Given the description of an element on the screen output the (x, y) to click on. 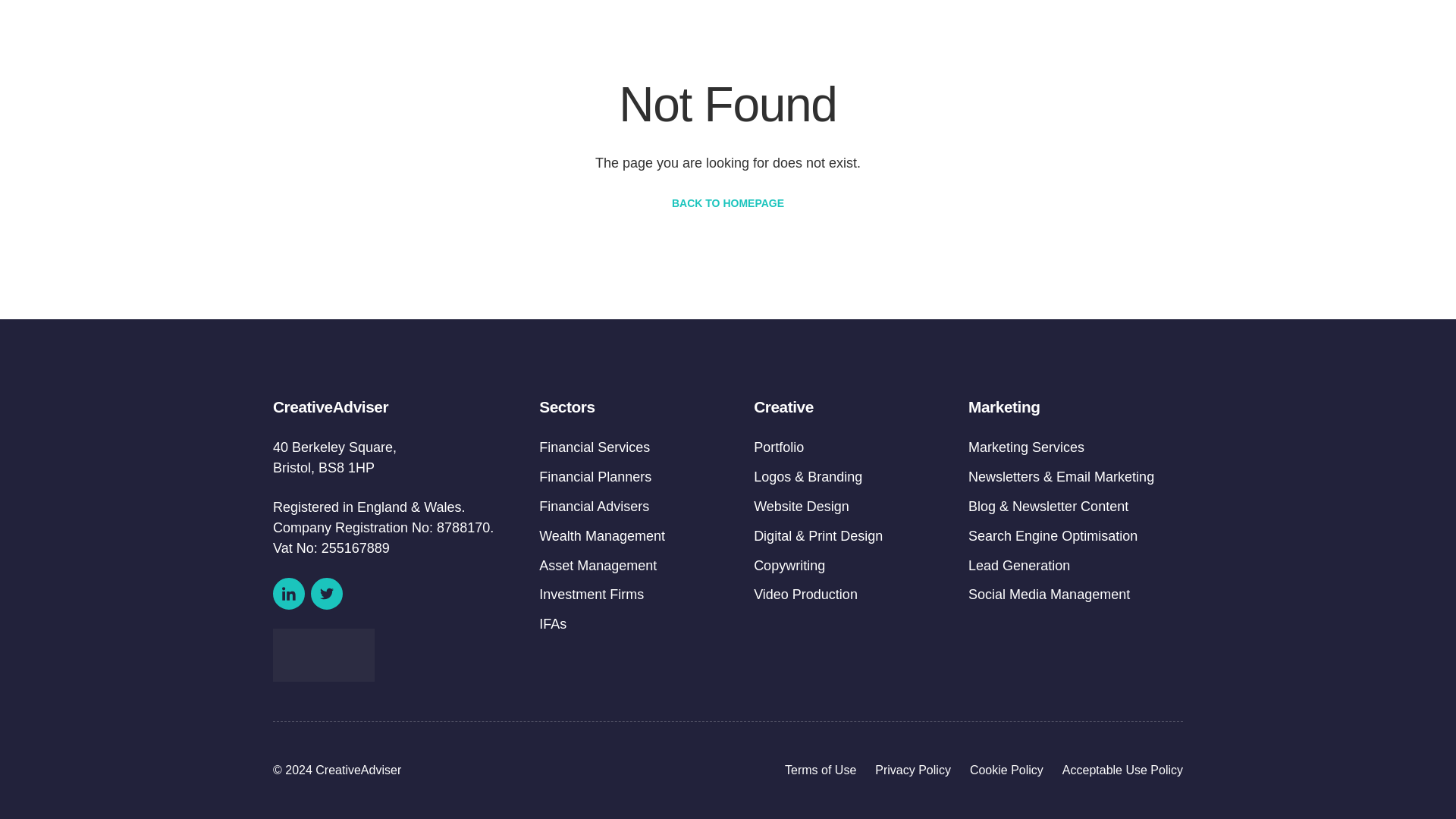
CreativeAdviser (893, 35)
Transform Your Firm (622, 35)
Blog (984, 35)
START YOUR PROJECT (1103, 35)
Grow Your Firm (764, 35)
